Given the description of an element on the screen output the (x, y) to click on. 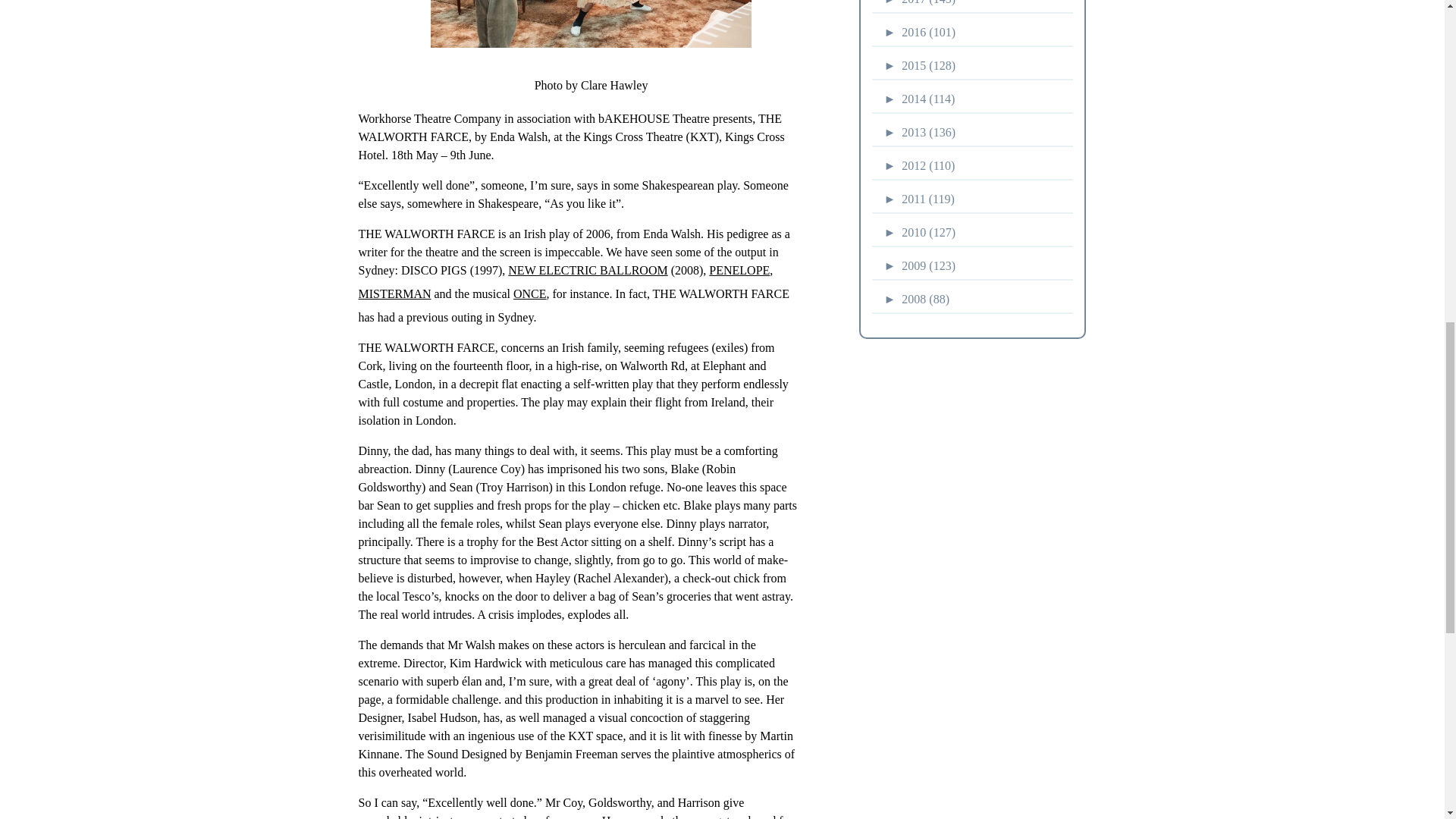
PENELOPE (739, 270)
ONCE (530, 294)
MISTERMAN (394, 294)
NEW ELECTRIC BALLROOM (587, 270)
